Given the description of an element on the screen output the (x, y) to click on. 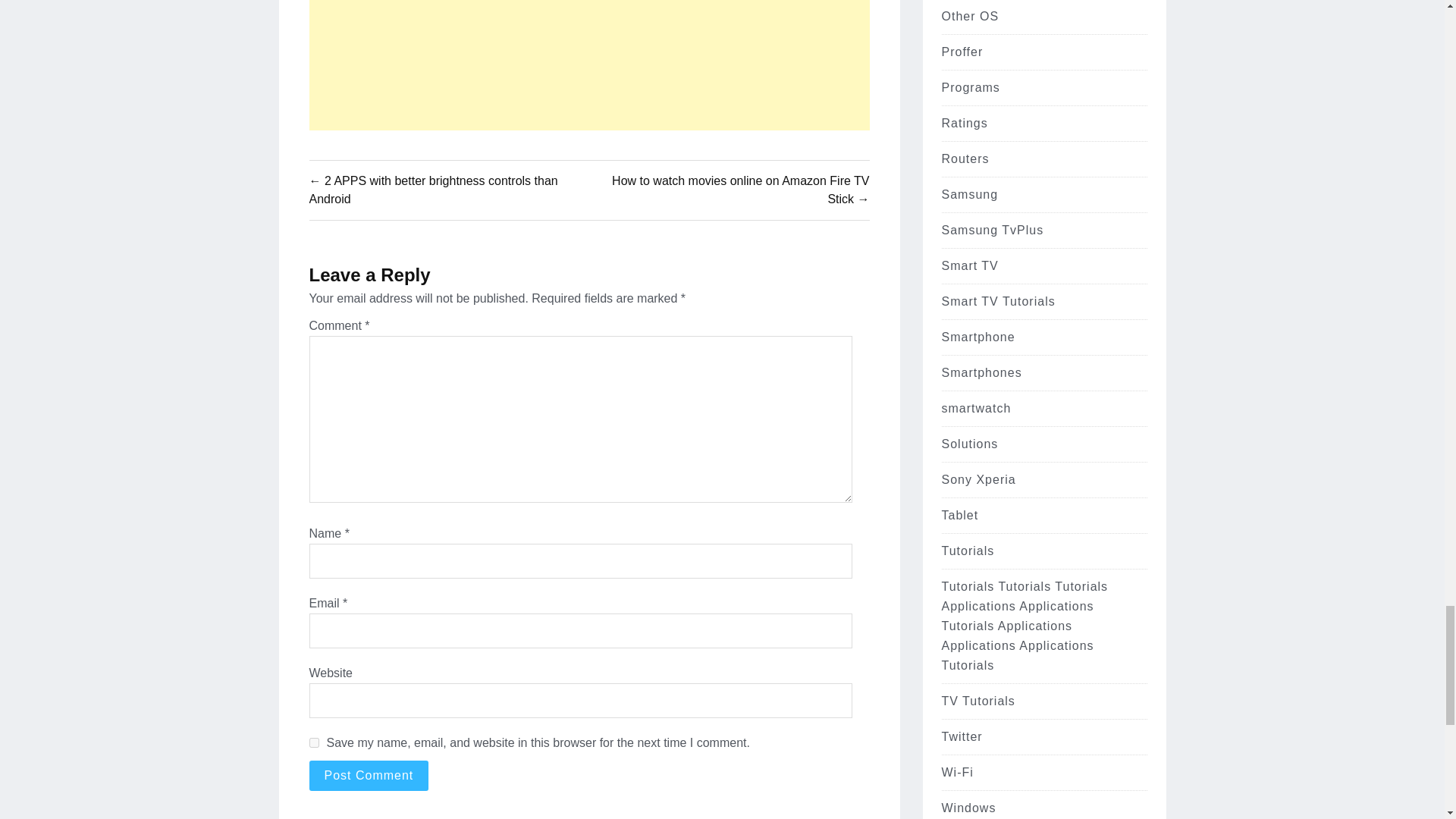
Post Comment (368, 775)
Post Comment (368, 775)
yes (313, 742)
